Given the description of an element on the screen output the (x, y) to click on. 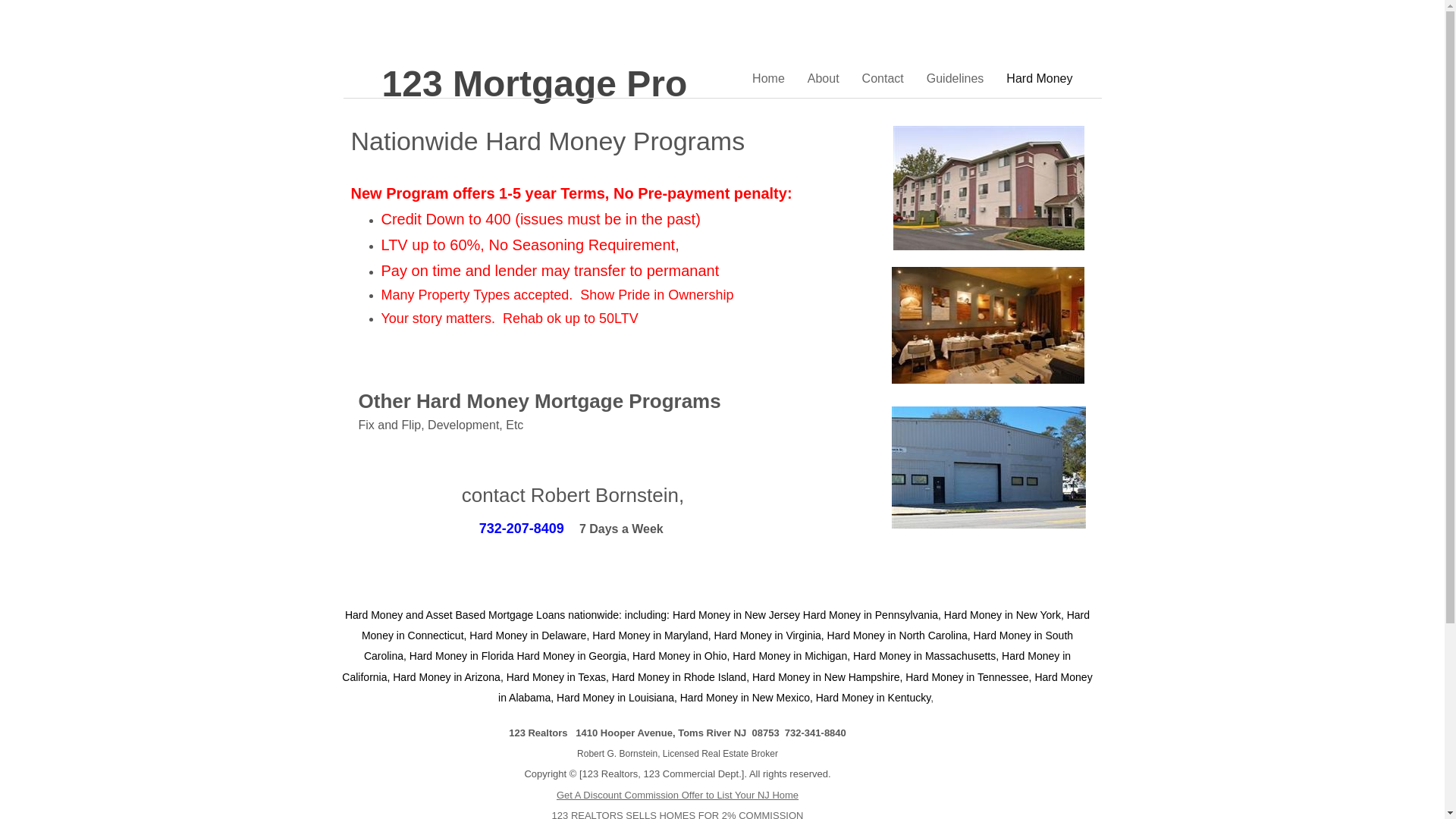
Home Element type: text (768, 78)
Contact Element type: text (882, 78)
About Element type: text (823, 78)
Hard Money Element type: text (1038, 78)
Get A Discount Commission Offer to List Your NJ Home Element type: text (677, 793)
Guidelines Element type: text (955, 78)
